Given the description of an element on the screen output the (x, y) to click on. 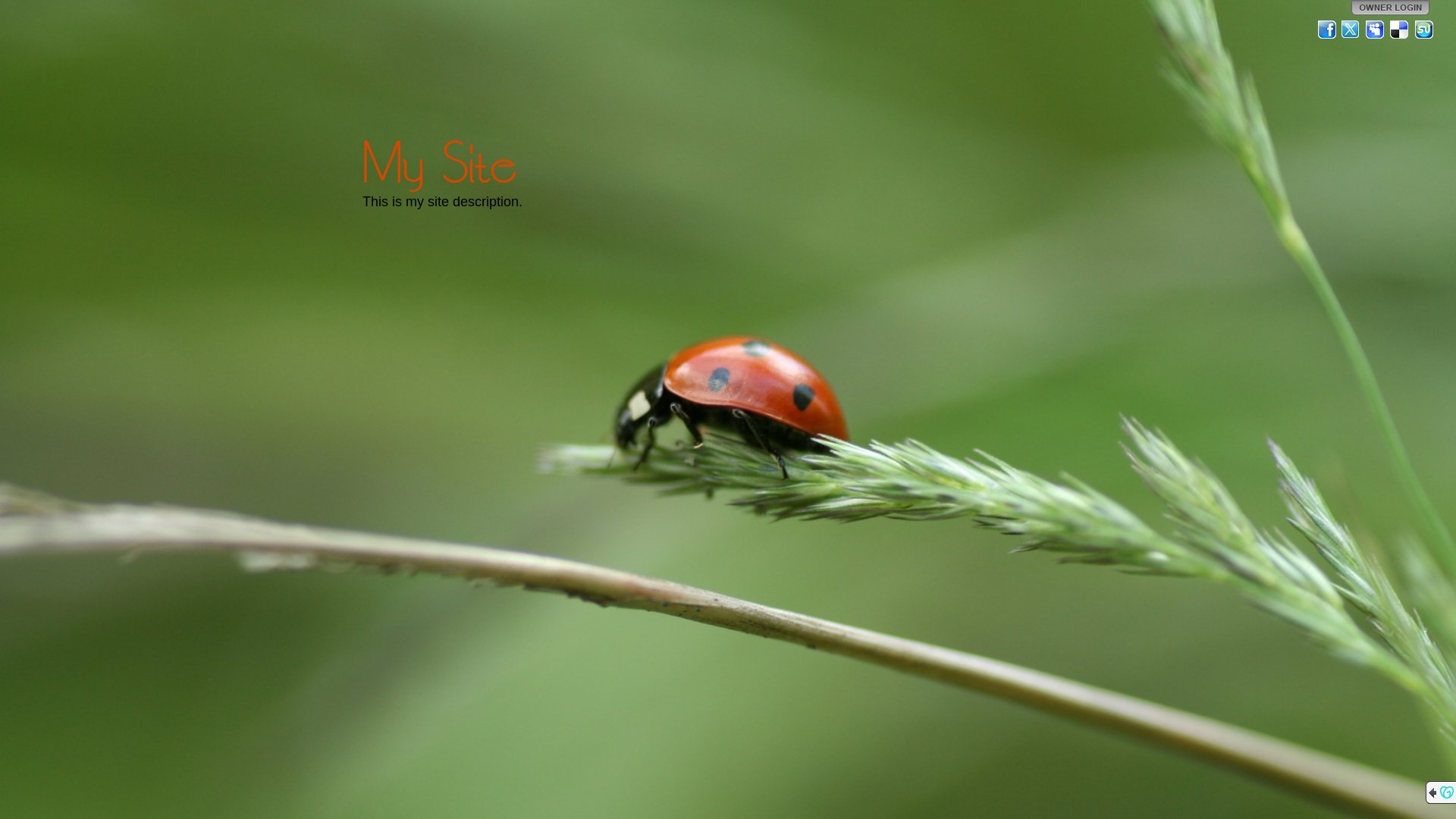
MySpace Element type: text (1375, 29)
Twitter Element type: text (1350, 29)
Facebook Element type: text (1326, 29)
Del.icio.us Element type: text (1399, 29)
StumbleUpon Element type: text (1423, 29)
